Given the description of an element on the screen output the (x, y) to click on. 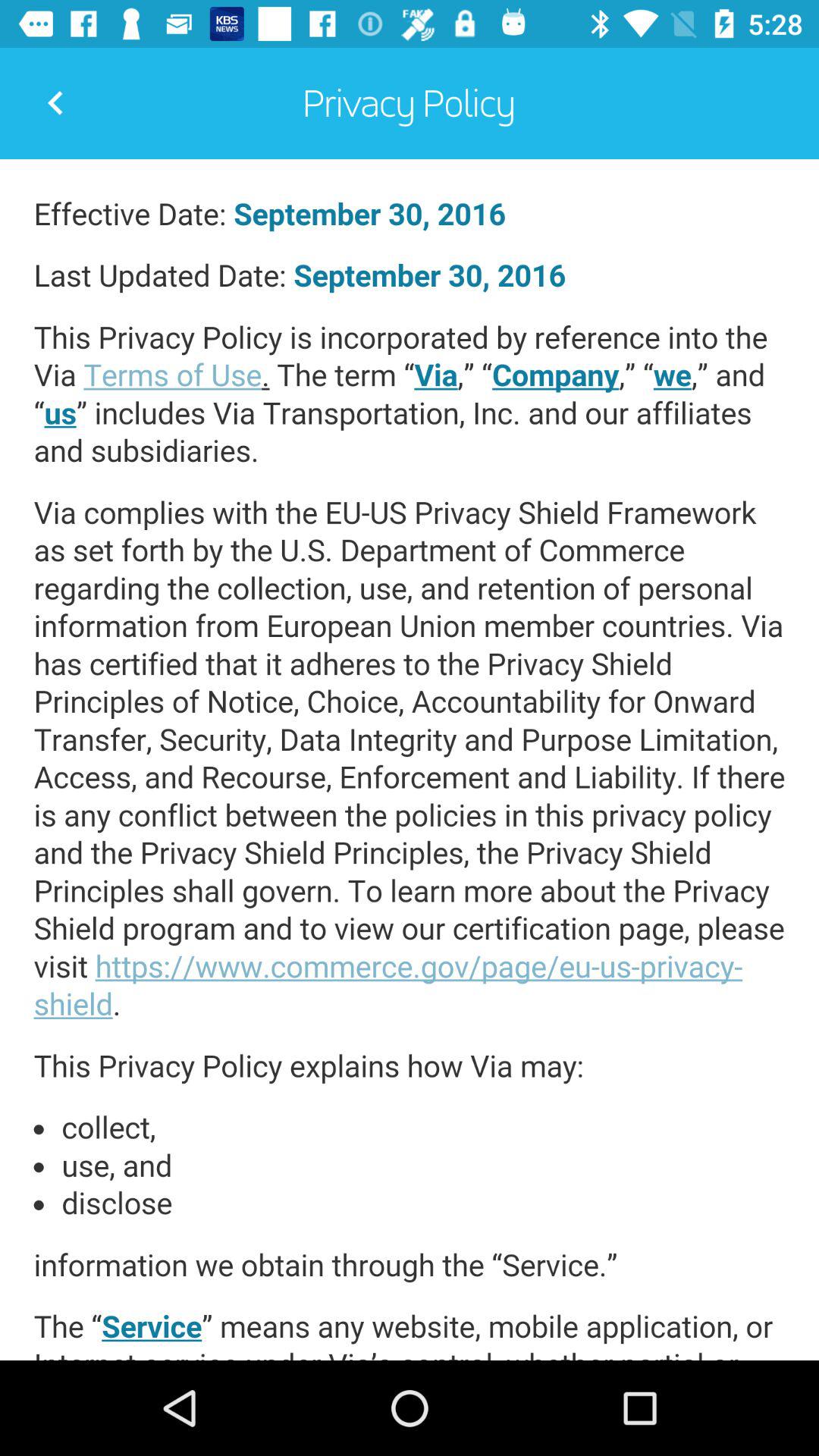
instruction icon (409, 759)
